Given the description of an element on the screen output the (x, y) to click on. 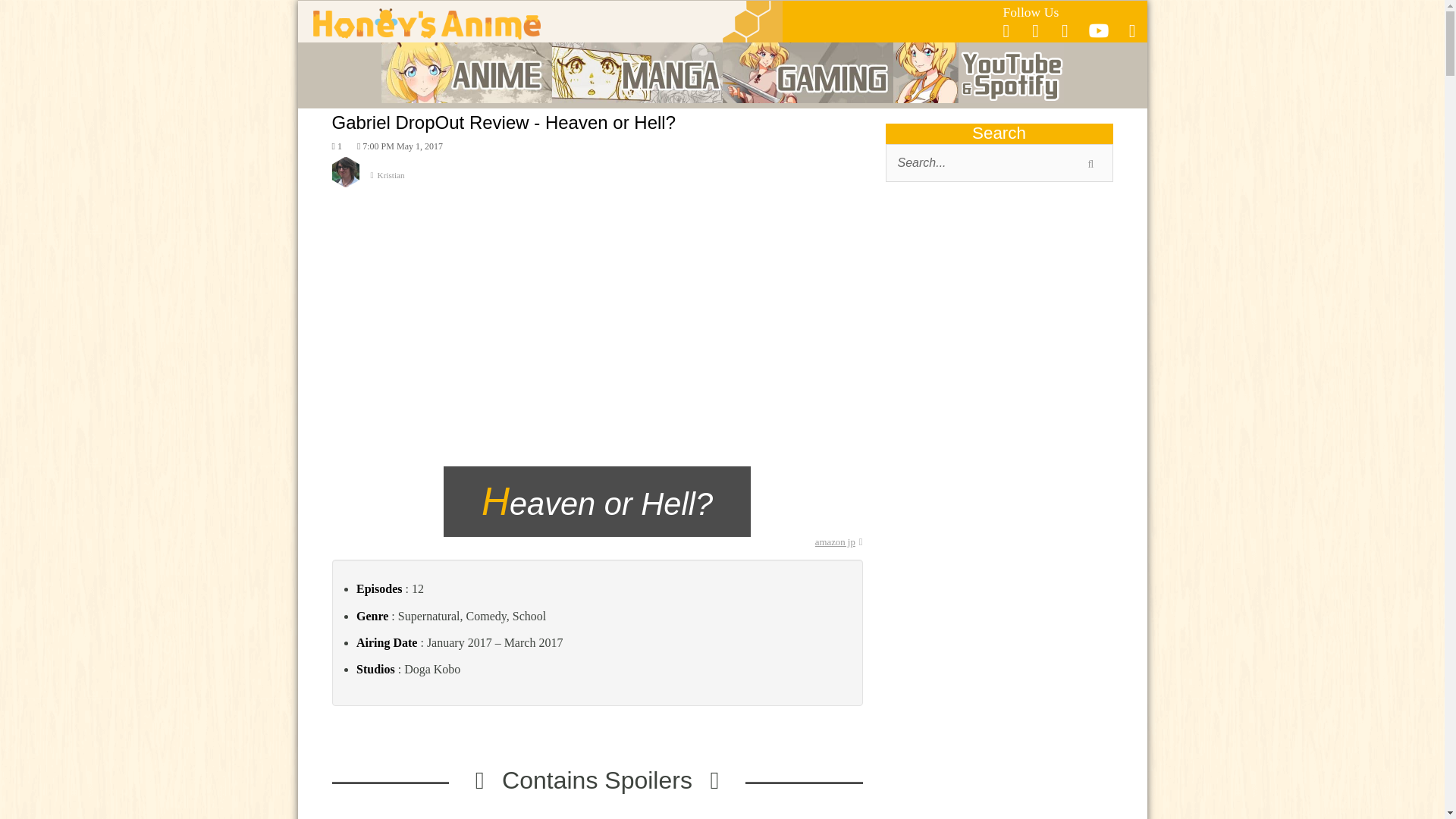
Kristian (597, 181)
Search... (999, 162)
Advertisement (999, 313)
banner-honeyfeed-malcontest (999, 787)
Search... (999, 162)
amazon jp (839, 542)
Our Youtube (1098, 35)
